Given the description of an element on the screen output the (x, y) to click on. 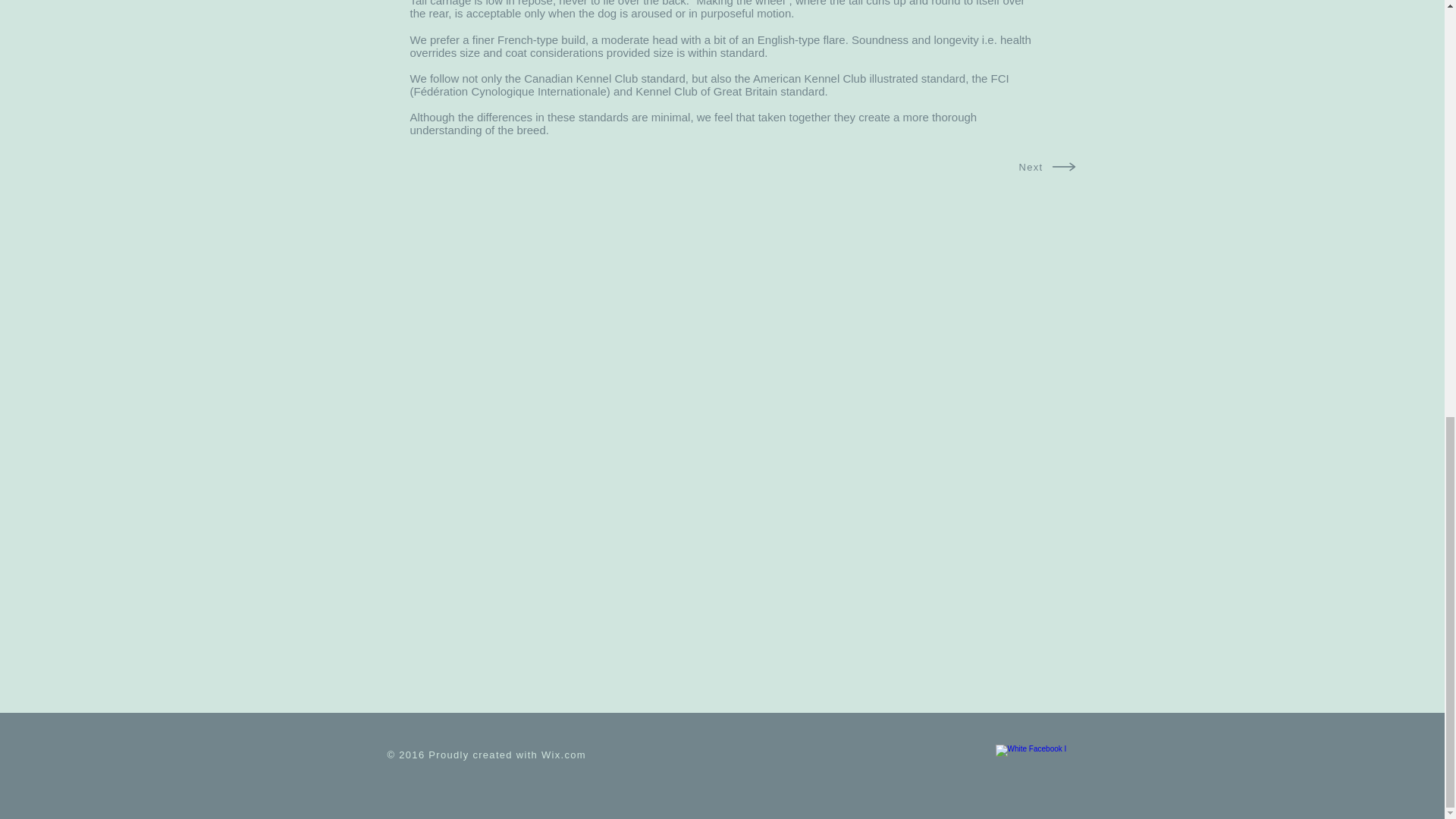
Canadian Kennel Club standard (604, 78)
Next (1031, 166)
Wix.com (563, 754)
Kennel Club of Great Britain standard (729, 91)
